Given the description of an element on the screen output the (x, y) to click on. 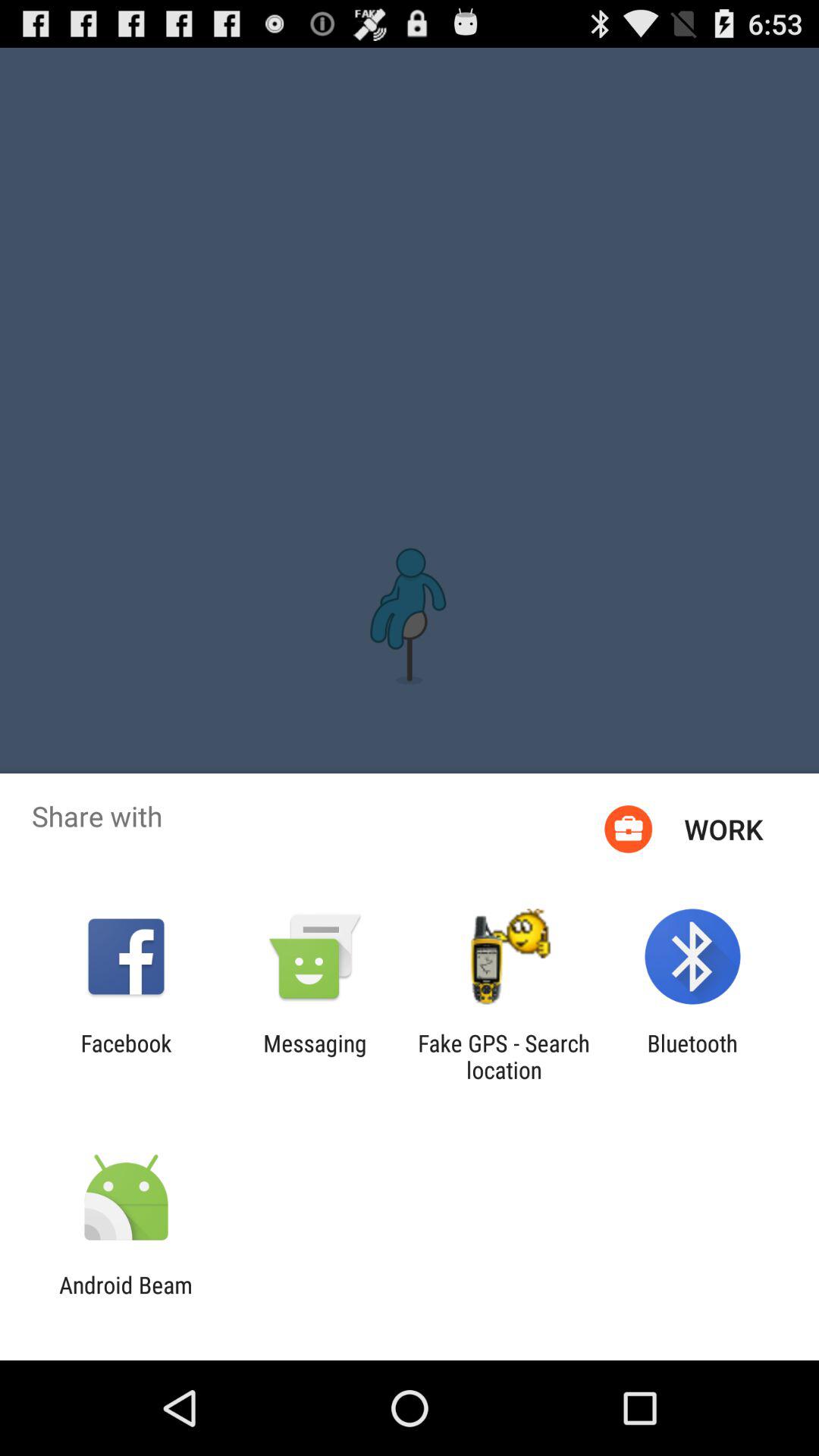
tap app to the right of the fake gps search item (692, 1056)
